Given the description of an element on the screen output the (x, y) to click on. 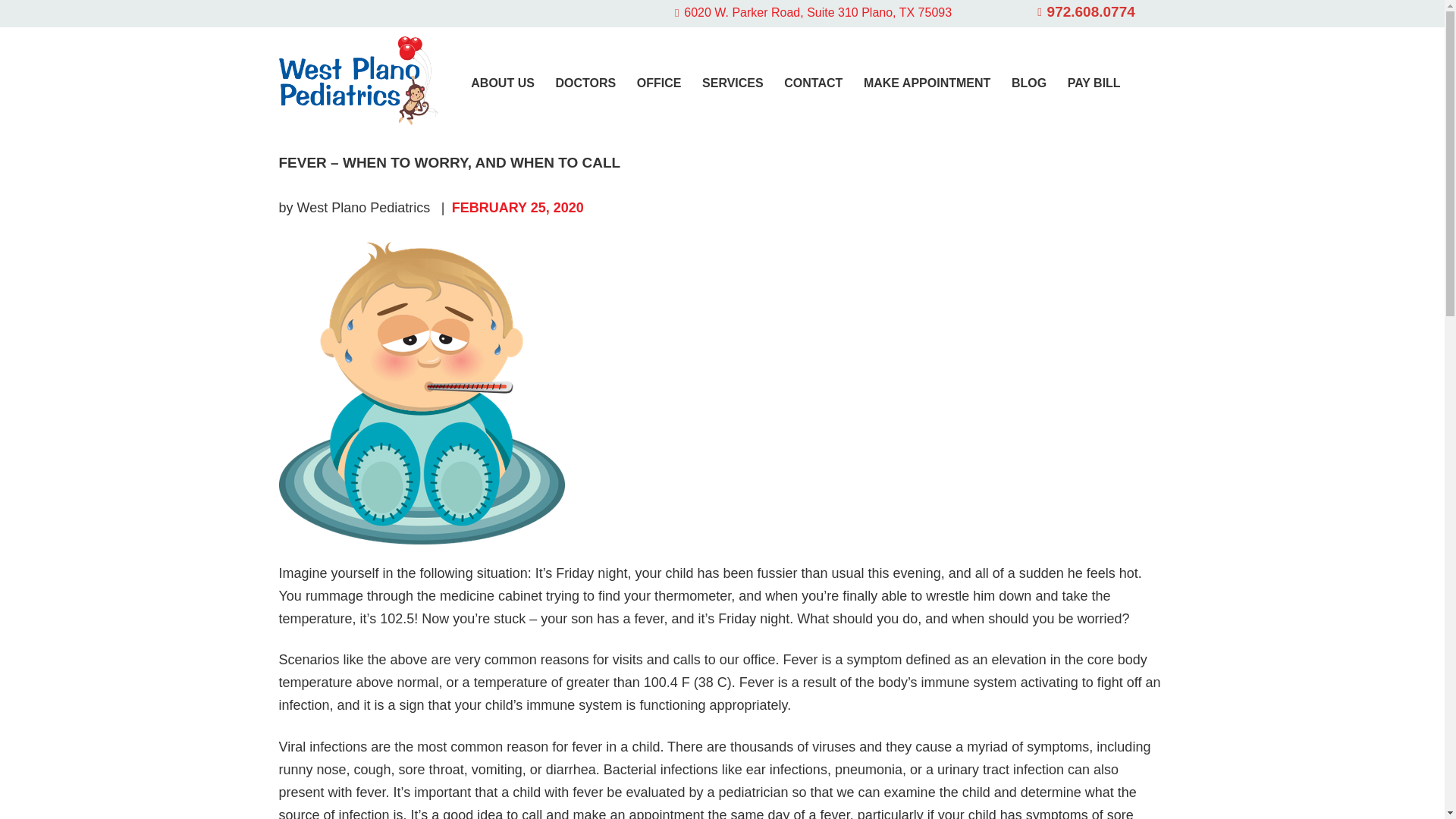
DOCTORS (586, 83)
logo (358, 80)
PAY BILL (1094, 83)
MAKE APPOINTMENT (926, 83)
BLOG (1029, 83)
OFFICE (658, 83)
ABOUT US (502, 83)
CONTACT (812, 83)
SERVICES (733, 83)
972.608.0774 (1085, 12)
